Given the description of an element on the screen output the (x, y) to click on. 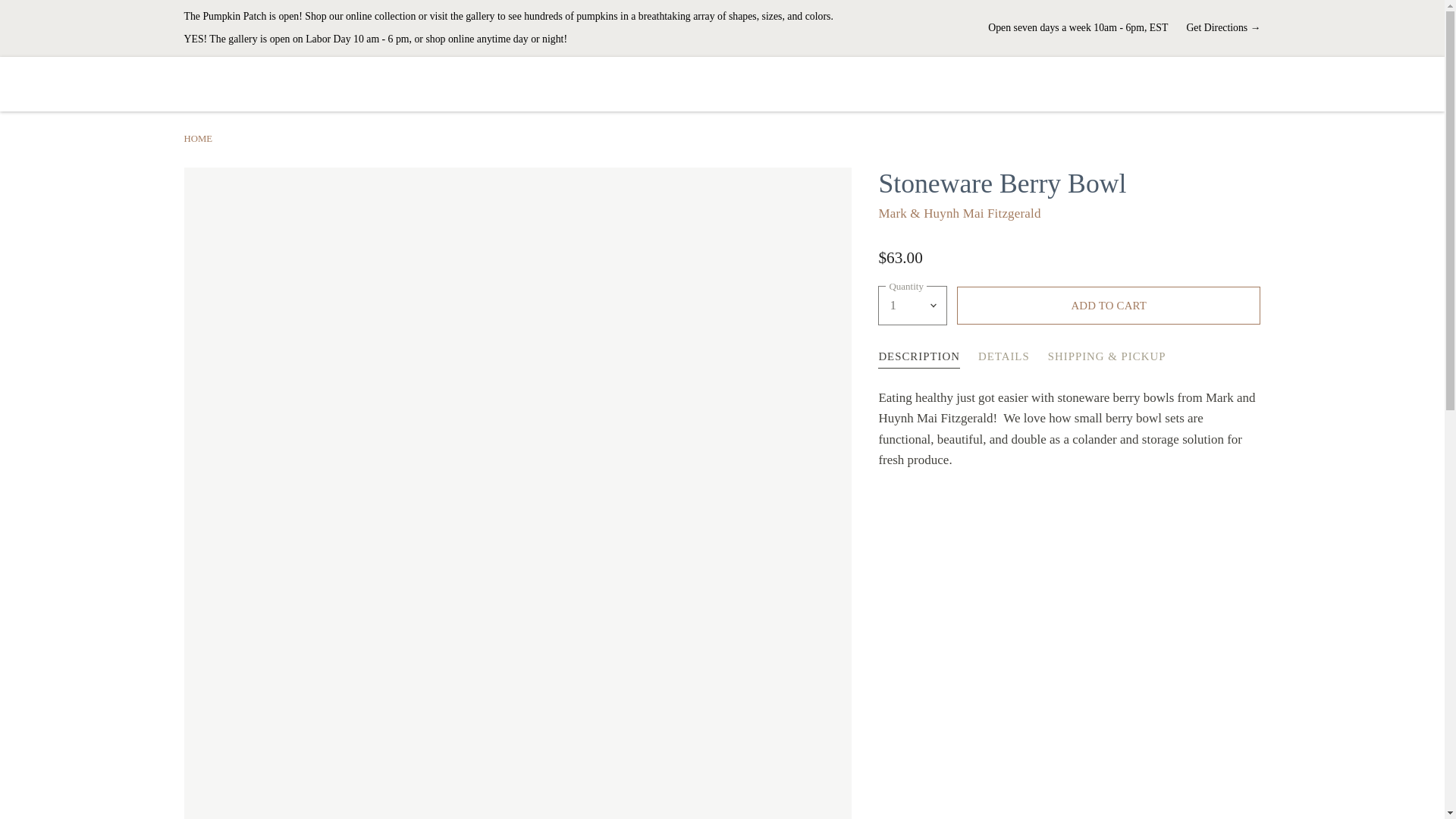
Open seven days a week 10am - 6pm, EST (1077, 28)
Pumpkin Patch (507, 16)
